Given the description of an element on the screen output the (x, y) to click on. 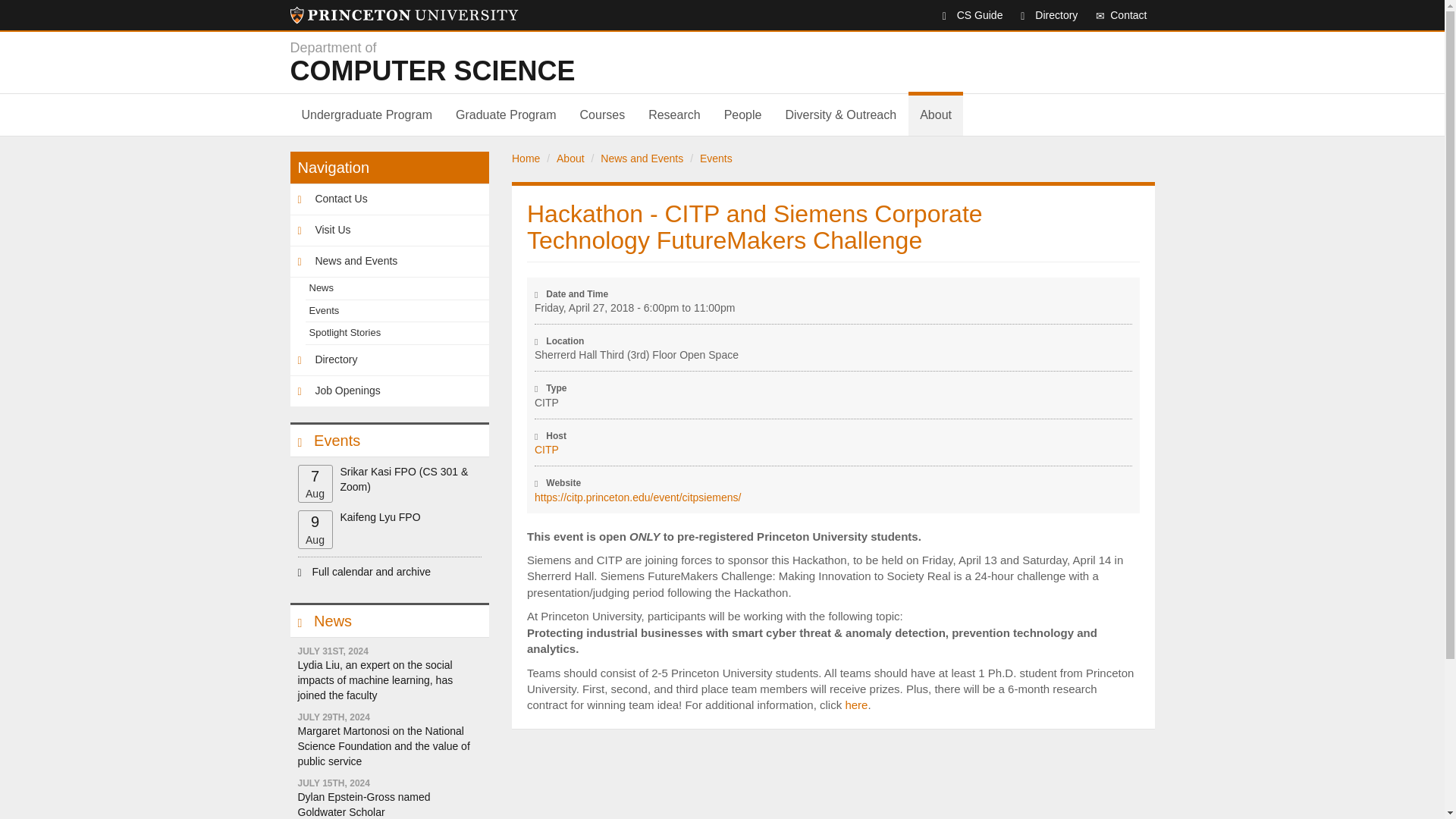
Graduate Program (505, 115)
CS Guide (965, 15)
Directory (1041, 15)
Home (574, 61)
Undergraduate Program (403, 14)
Skip to main content (366, 115)
